Given the description of an element on the screen output the (x, y) to click on. 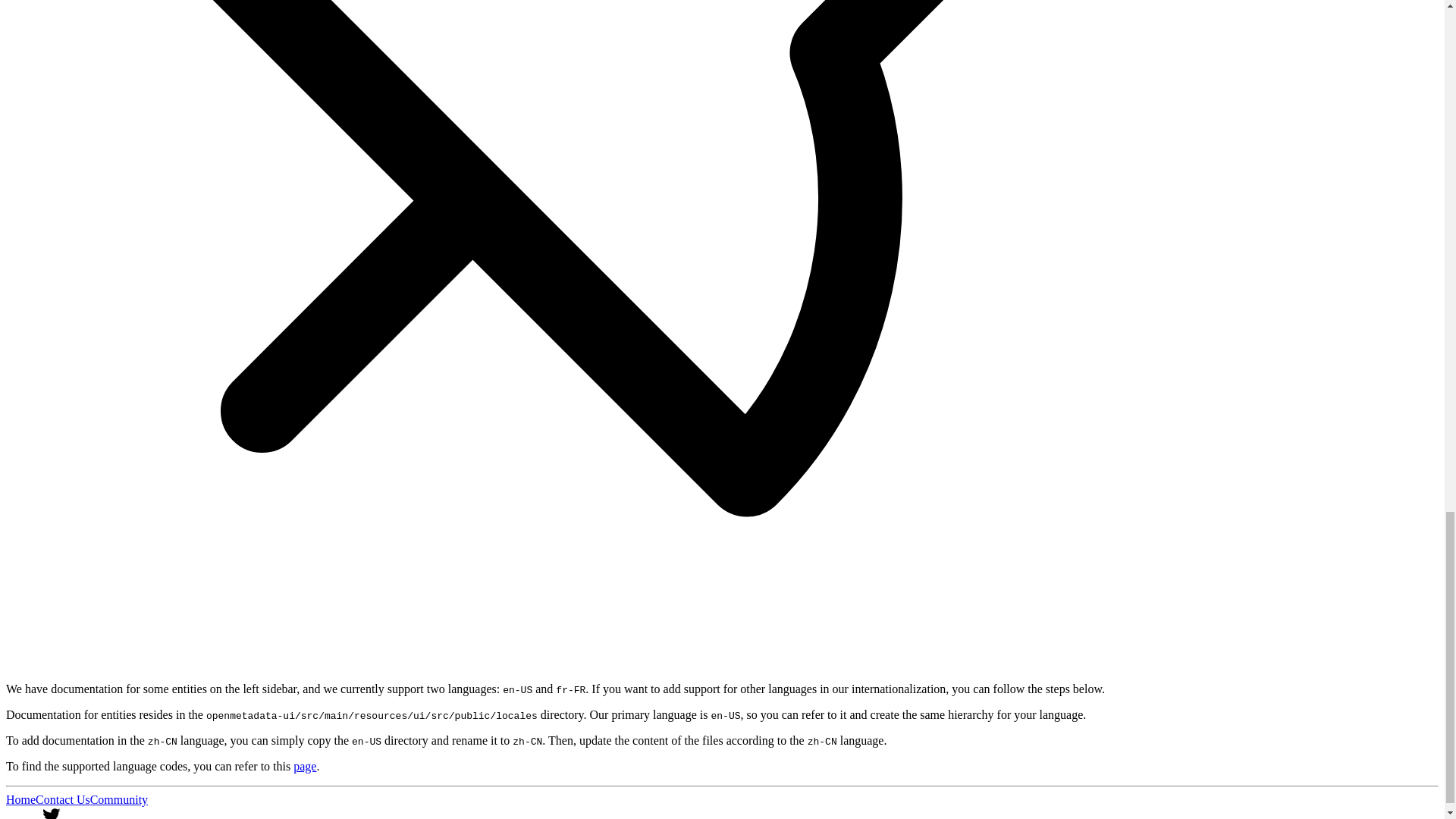
Home (19, 799)
Community (119, 799)
Contact Us (62, 799)
page (304, 766)
